Given the description of an element on the screen output the (x, y) to click on. 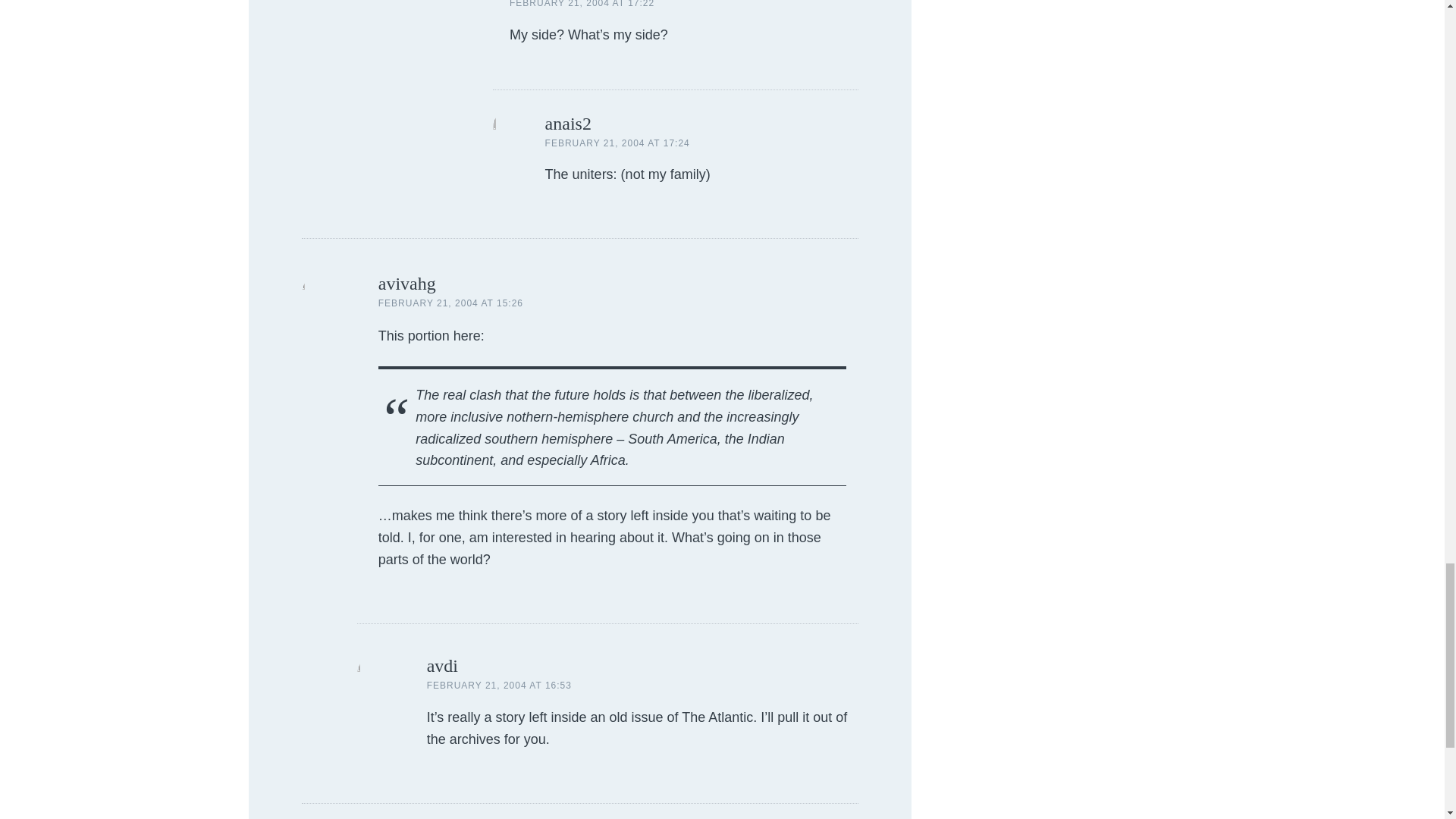
FEBRUARY 21, 2004 AT 17:22 (581, 4)
FEBRUARY 21, 2004 AT 16:53 (499, 685)
FEBRUARY 21, 2004 AT 17:24 (617, 143)
avdi (442, 665)
avivahg (406, 283)
FEBRUARY 21, 2004 AT 15:26 (450, 303)
anais2 (567, 123)
